Given the description of an element on the screen output the (x, y) to click on. 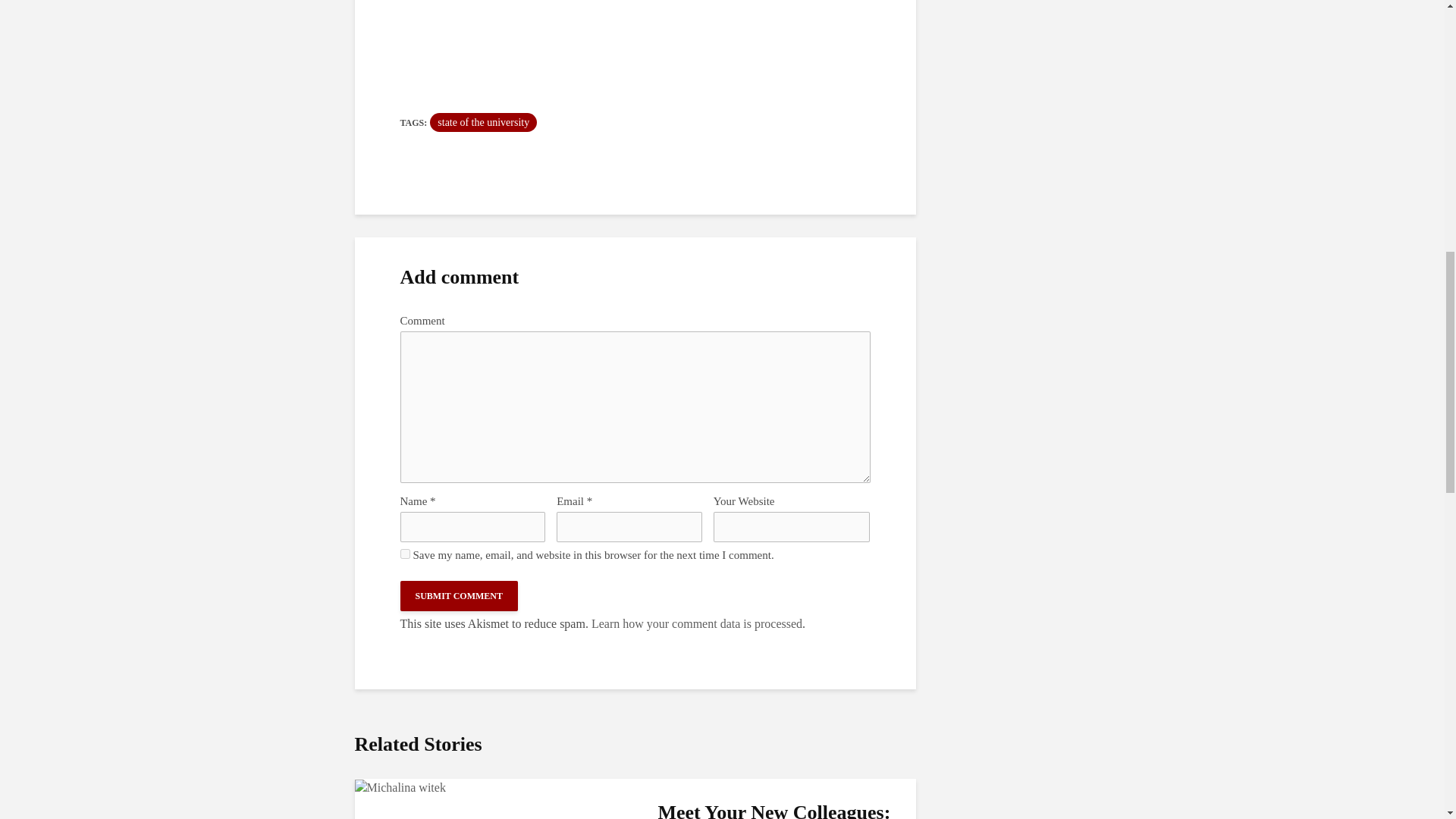
Meet Your New Colleagues: Michalina Witek (400, 786)
yes (405, 553)
Submit Comment (459, 595)
